Given the description of an element on the screen output the (x, y) to click on. 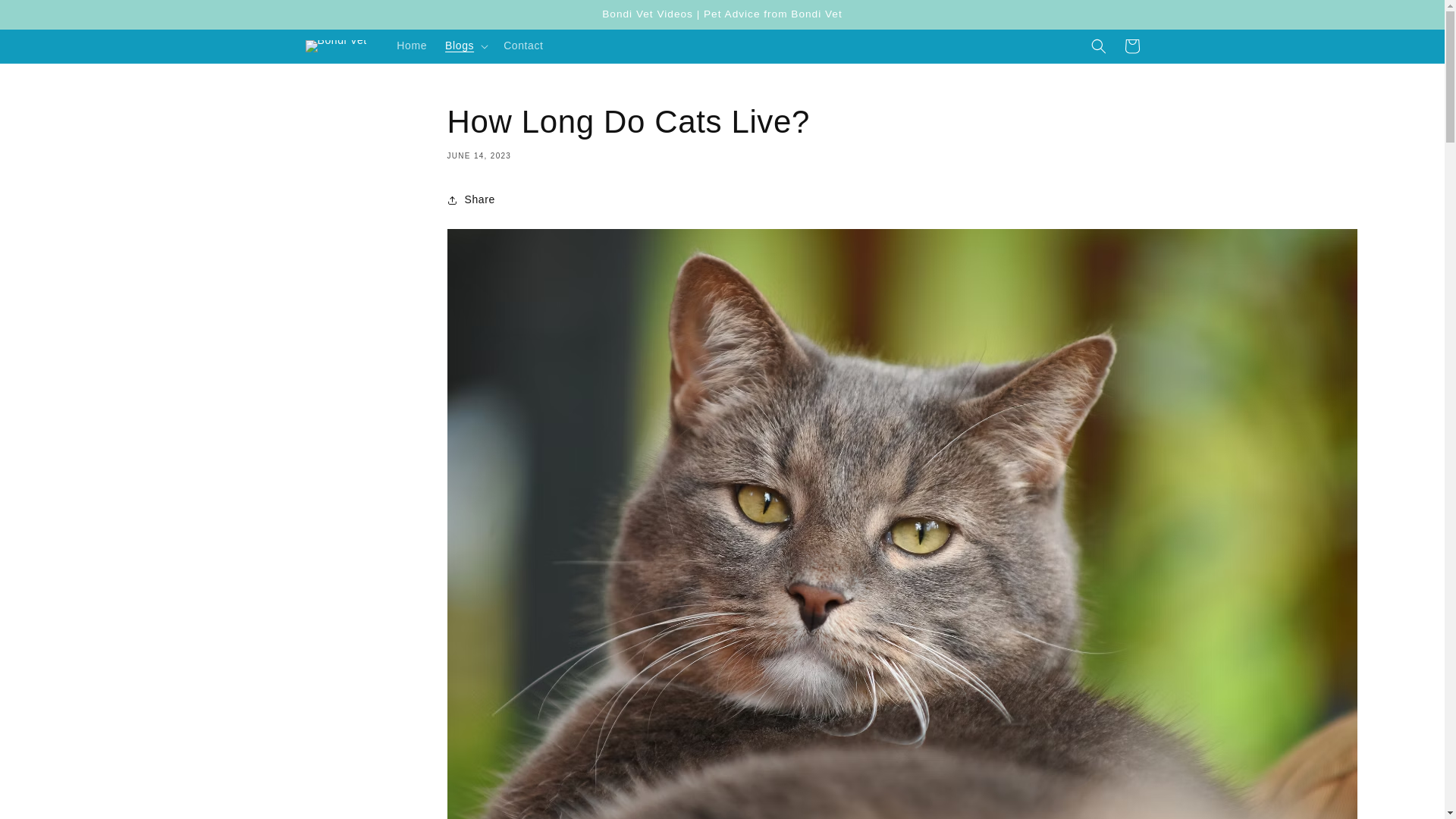
Cart (1131, 46)
Contact (523, 45)
Skip to content (45, 17)
Home (411, 45)
